Given the description of an element on the screen output the (x, y) to click on. 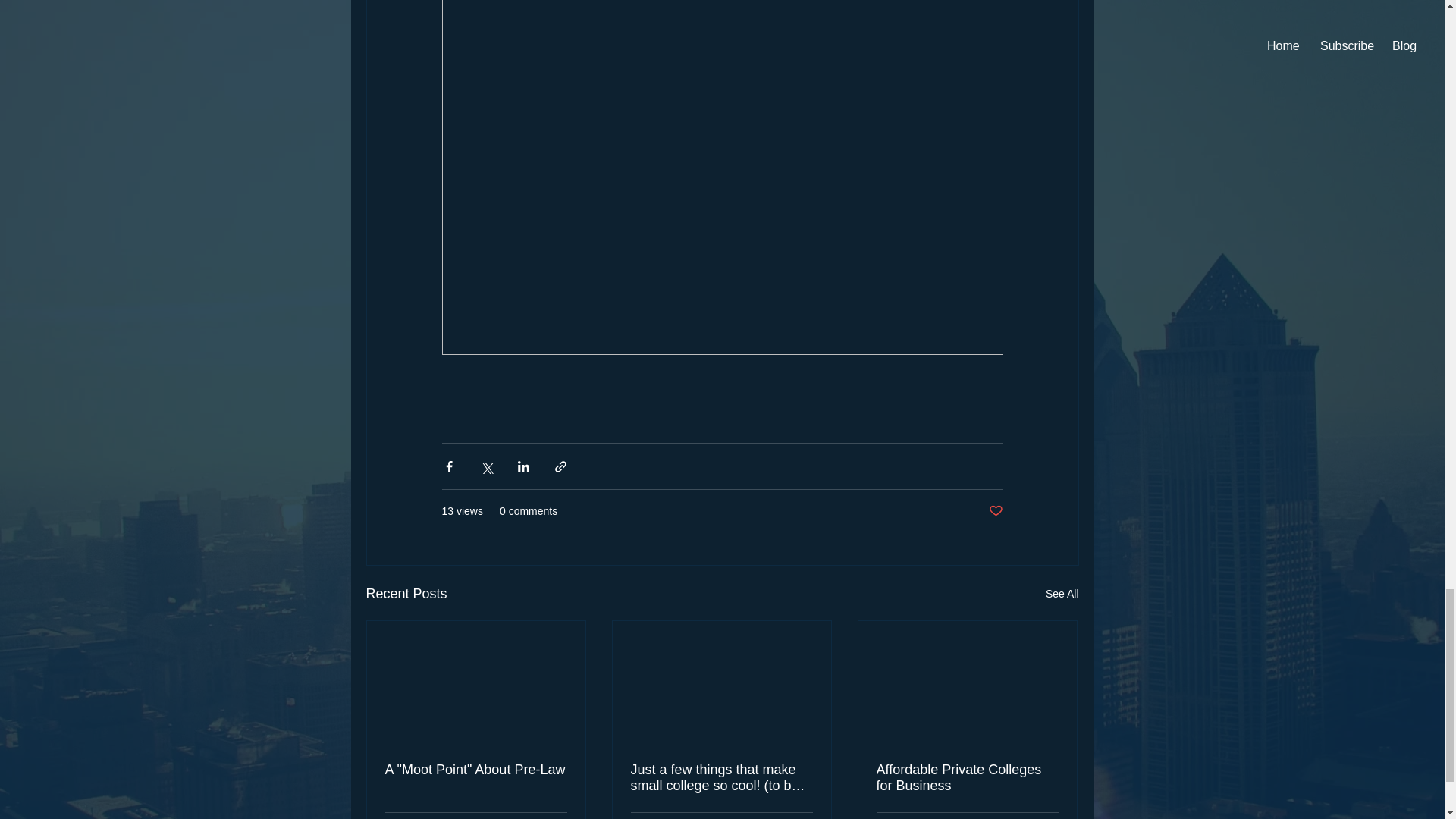
Affordable Private Colleges for Business (967, 777)
A "Moot Point" About Pre-Law (476, 770)
See All (1061, 594)
Post not marked as liked (995, 511)
